Given the description of an element on the screen output the (x, y) to click on. 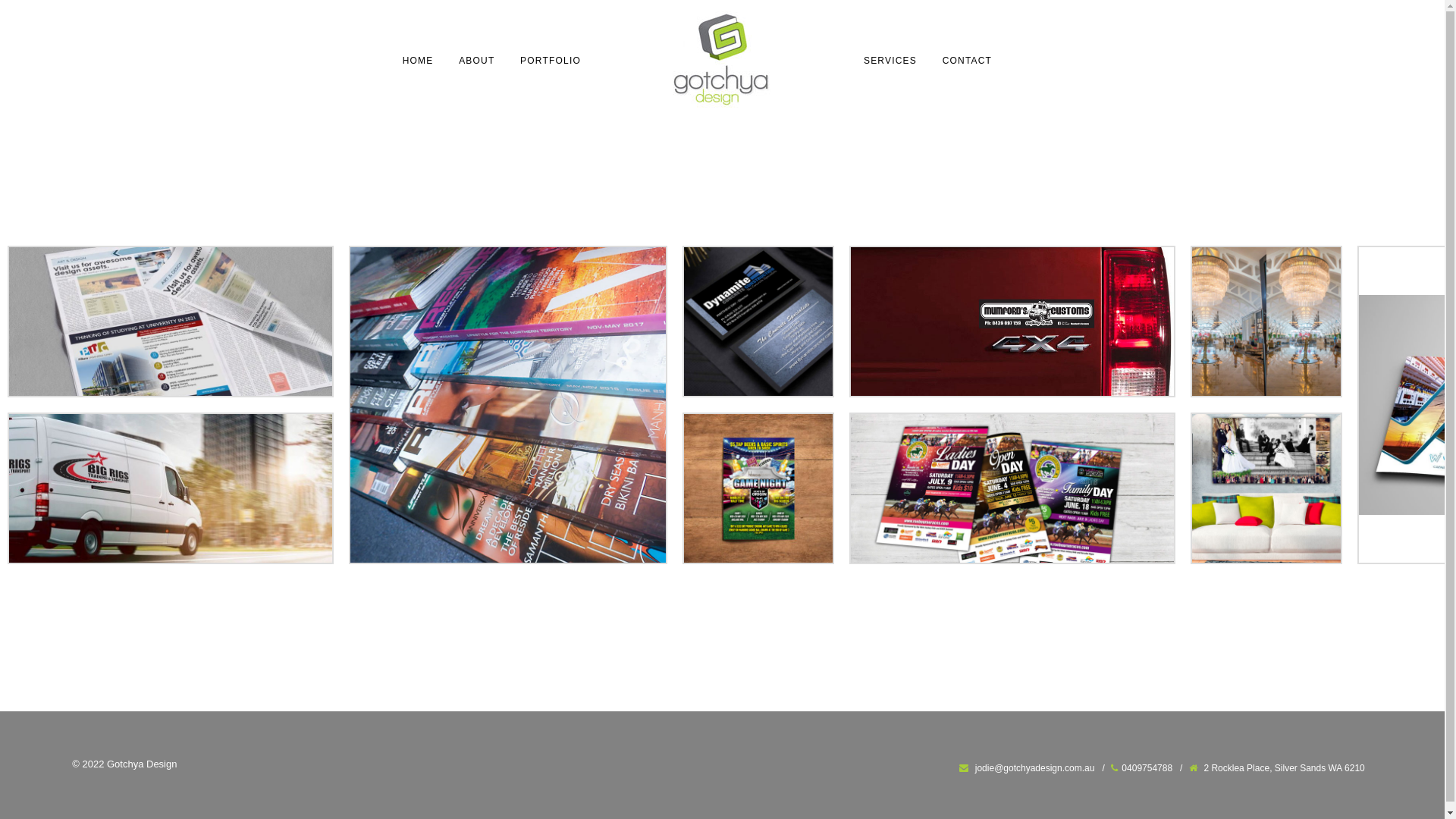
PORTFOLIO Element type: text (550, 60)
ABOUT Element type: text (476, 60)
HOME Element type: text (417, 60)
CONTACT Element type: text (967, 60)
SERVICES Element type: text (889, 60)
